Given the description of an element on the screen output the (x, y) to click on. 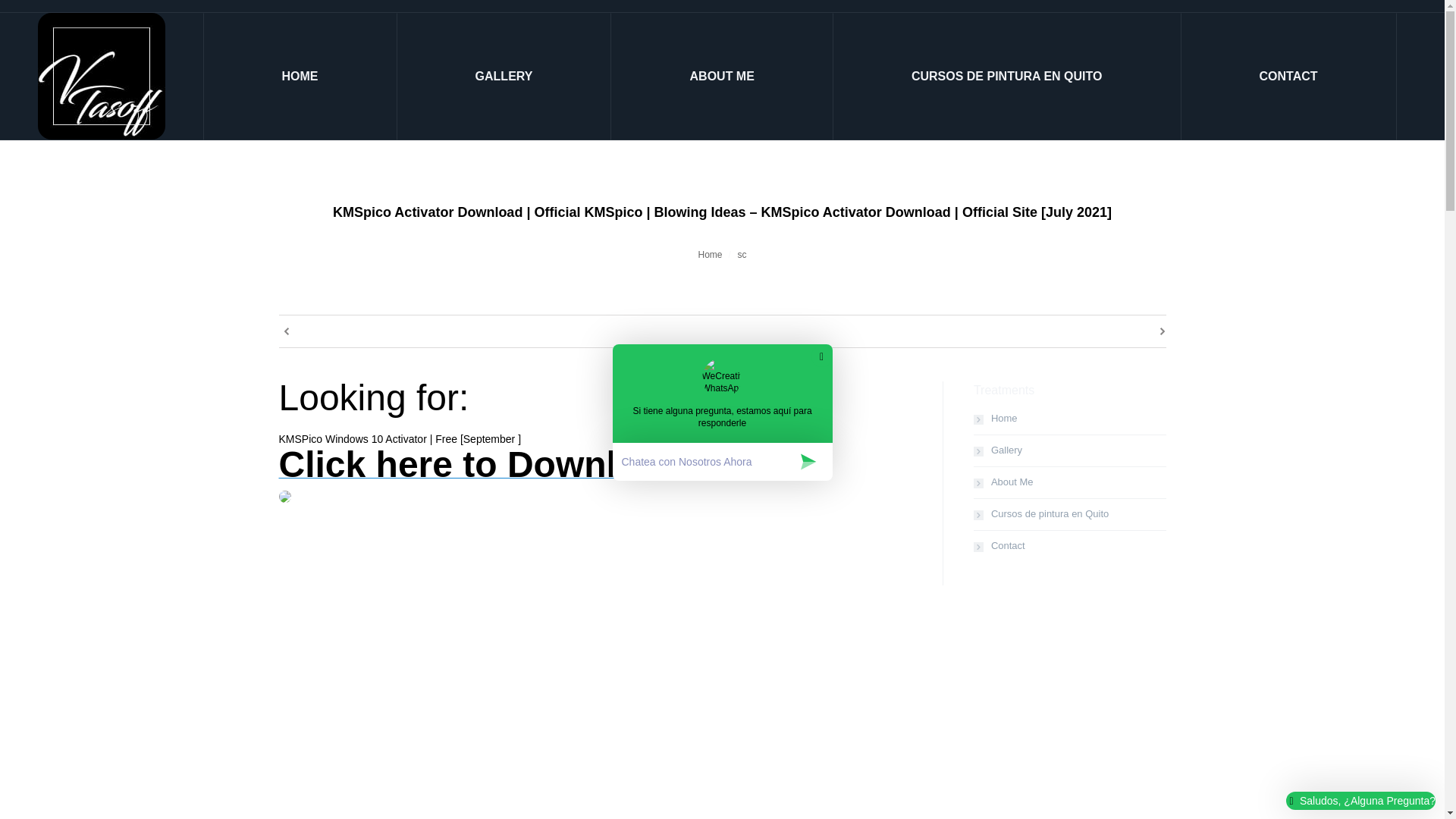
Post Comment (44, 13)
Go! (17, 13)
ABOUT ME (721, 76)
Home (709, 254)
GALLERY (503, 76)
CONTACT (1288, 76)
Click here to Download (480, 472)
CURSOS DE PINTURA EN QUITO (1006, 76)
HOME (299, 76)
